Given the description of an element on the screen output the (x, y) to click on. 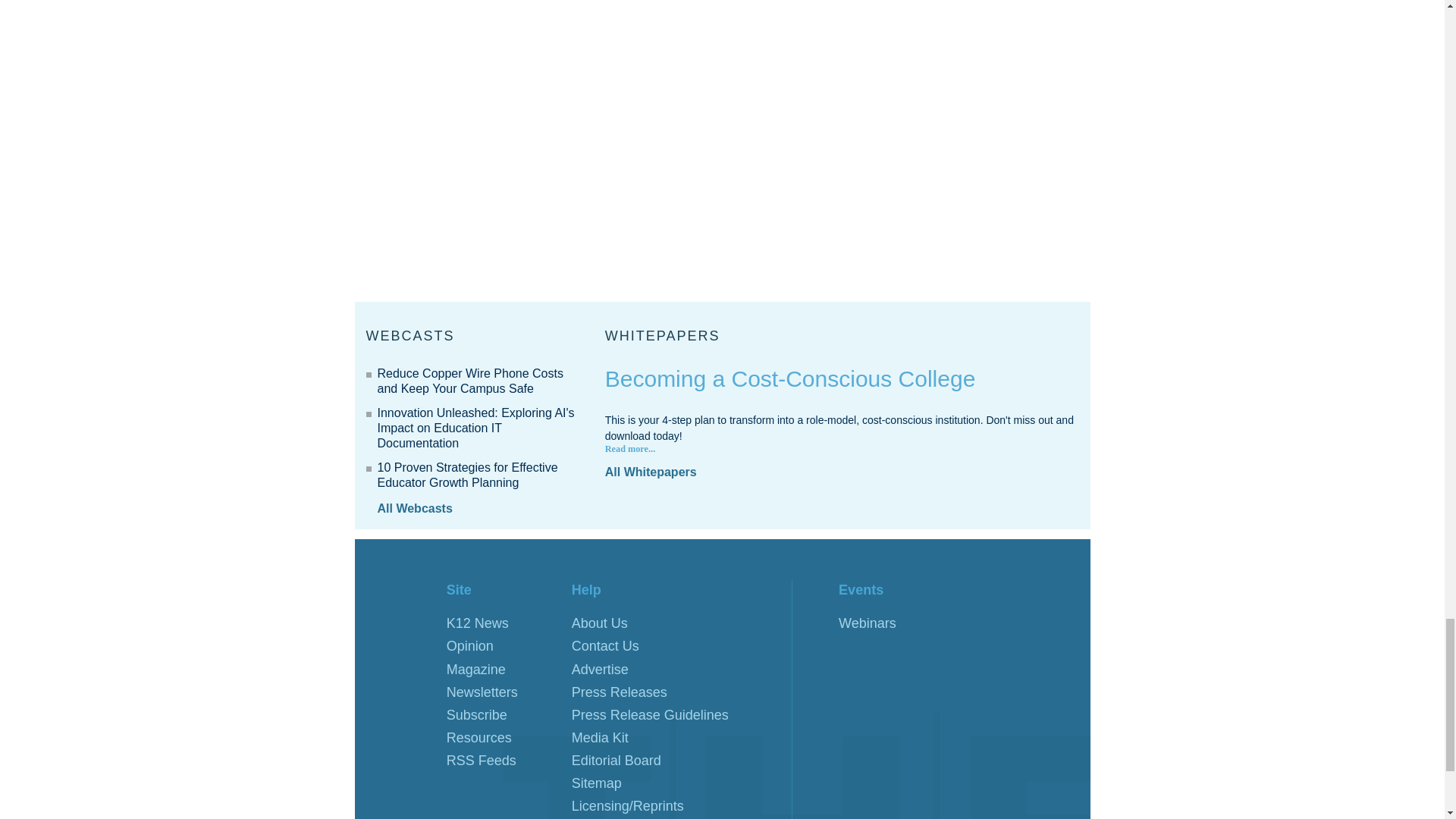
3rd party ad content (975, 144)
